Given the description of an element on the screen output the (x, y) to click on. 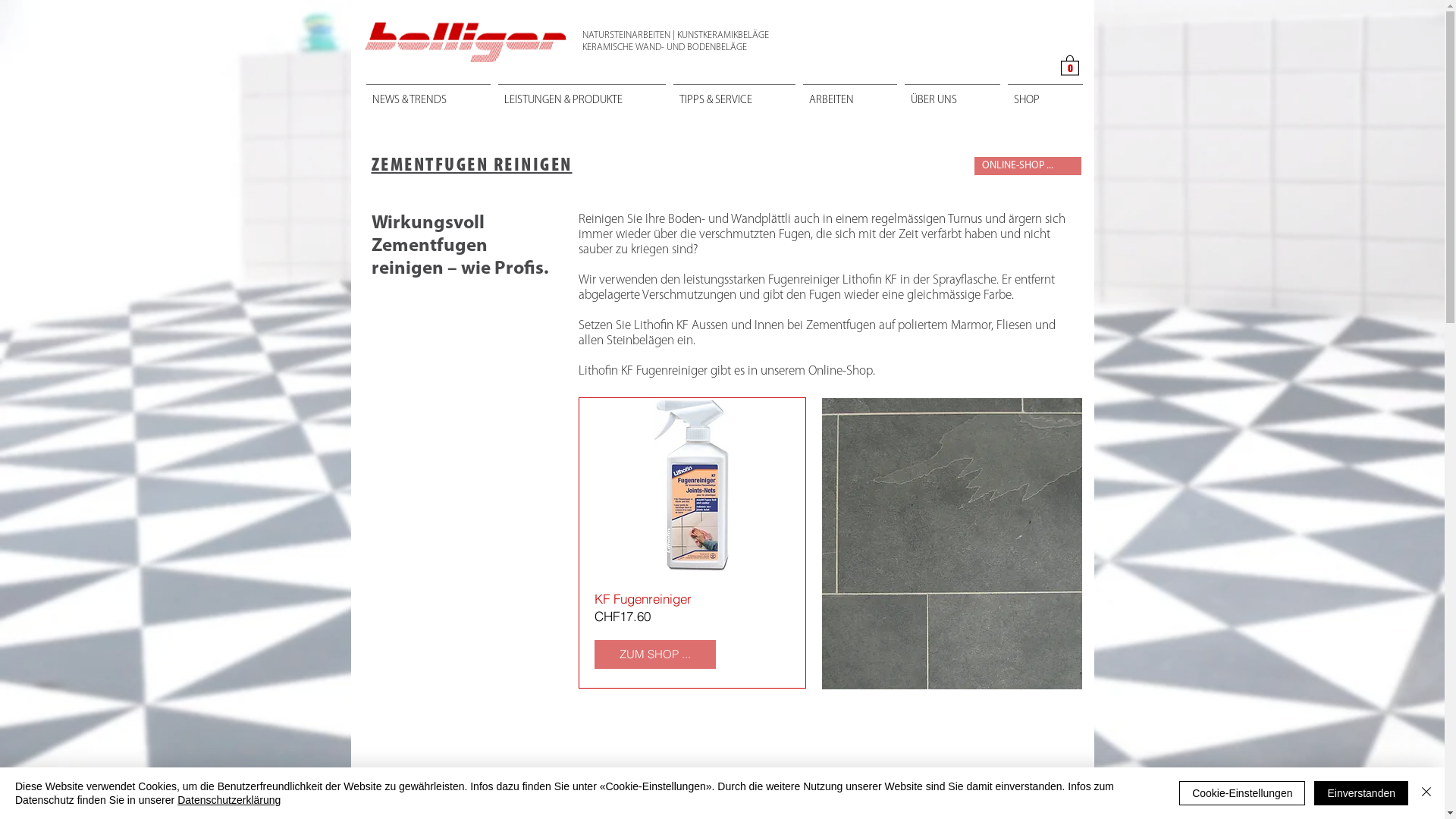
Cookie-Einstellungen Element type: text (1242, 793)
KF Fugenreiniger
CHF17.60
Preis
ZUM SHOP ... Element type: text (692, 542)
NEWS & TRENDS Element type: text (428, 93)
SHOP Element type: text (1045, 93)
ZUM SHOP ... Element type: text (655, 654)
ONLINE-SHOP ... Element type: text (1026, 165)
0 Element type: text (1069, 64)
ARBEITEN Element type: text (849, 93)
Einverstanden Element type: text (1361, 793)
